Given the description of an element on the screen output the (x, y) to click on. 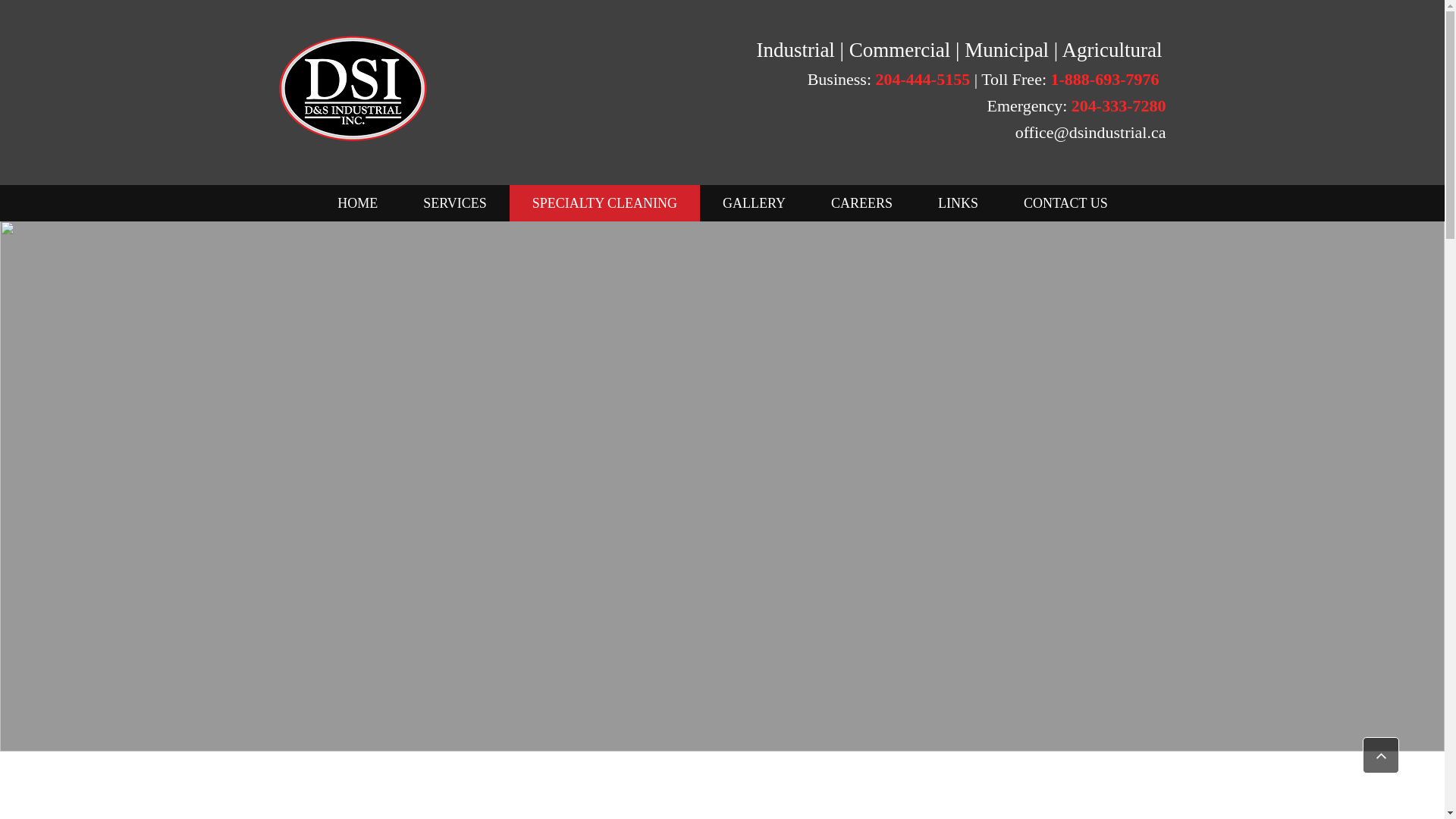
GALLERY (754, 203)
HOME (357, 203)
CONTACT US (1066, 203)
SERVICES (454, 203)
1-888-693-7976 (1104, 81)
CAREERS (861, 203)
SPECIALTY CLEANING (604, 203)
204-333-7280 (1118, 108)
204-444-5155 (923, 81)
LINKS (958, 203)
